Given the description of an element on the screen output the (x, y) to click on. 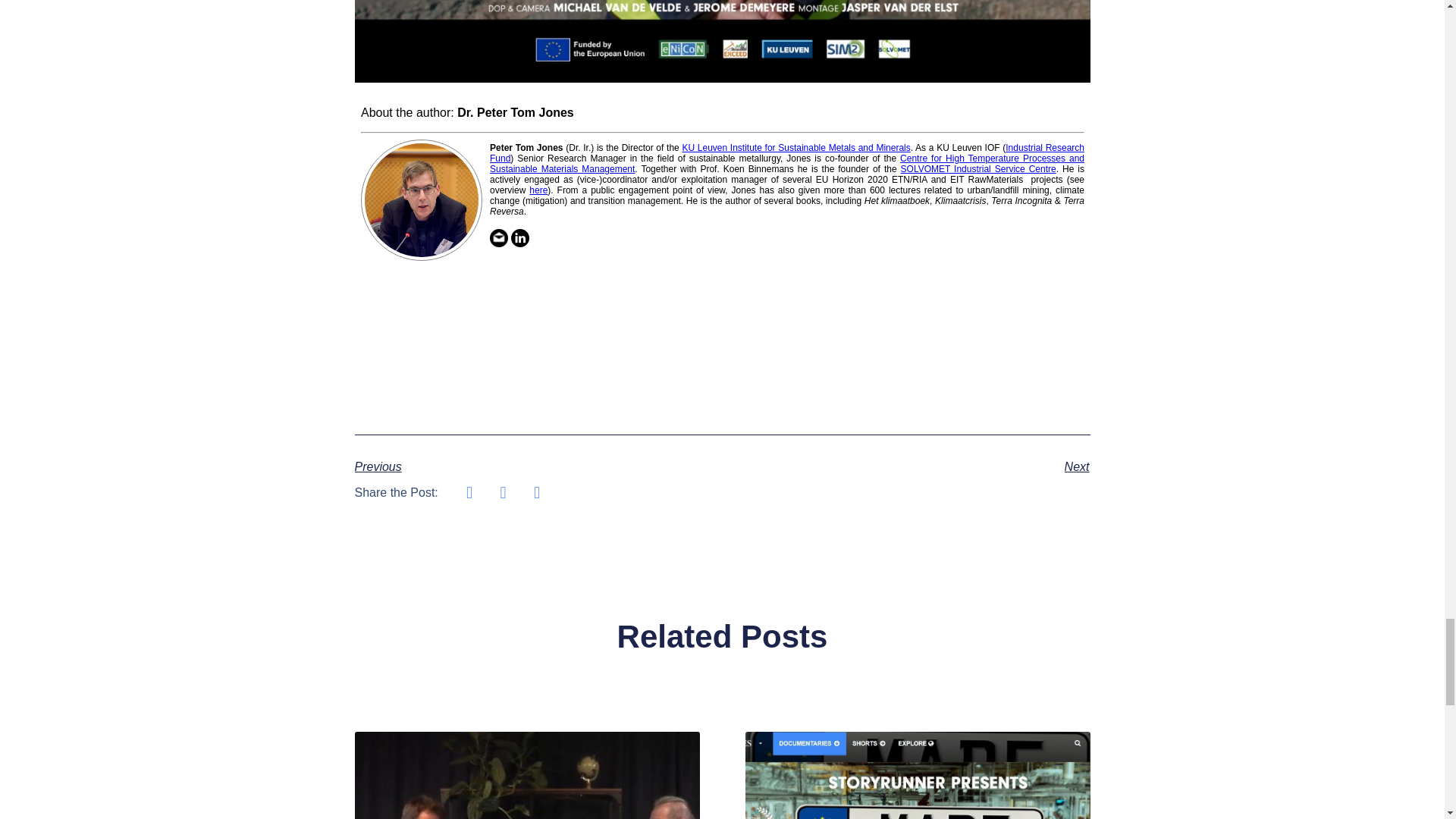
Next (905, 466)
Previous (538, 466)
